Given the description of an element on the screen output the (x, y) to click on. 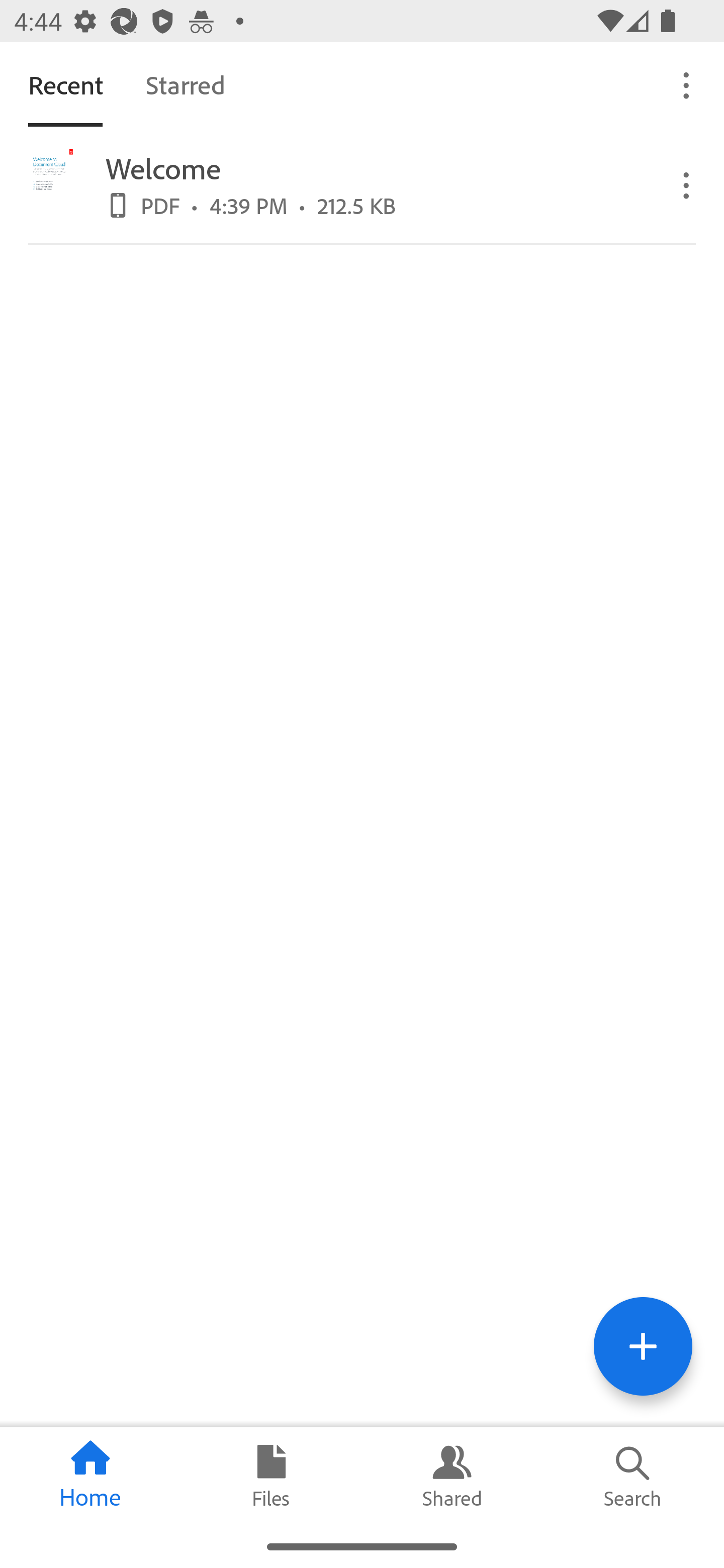
Recent (65, 84)
Starred (185, 84)
Overflow (687, 84)
Overflow (687, 184)
Tools (642, 1345)
Home (90, 1475)
Files (271, 1475)
Shared (452, 1475)
Search (633, 1475)
